Given the description of an element on the screen output the (x, y) to click on. 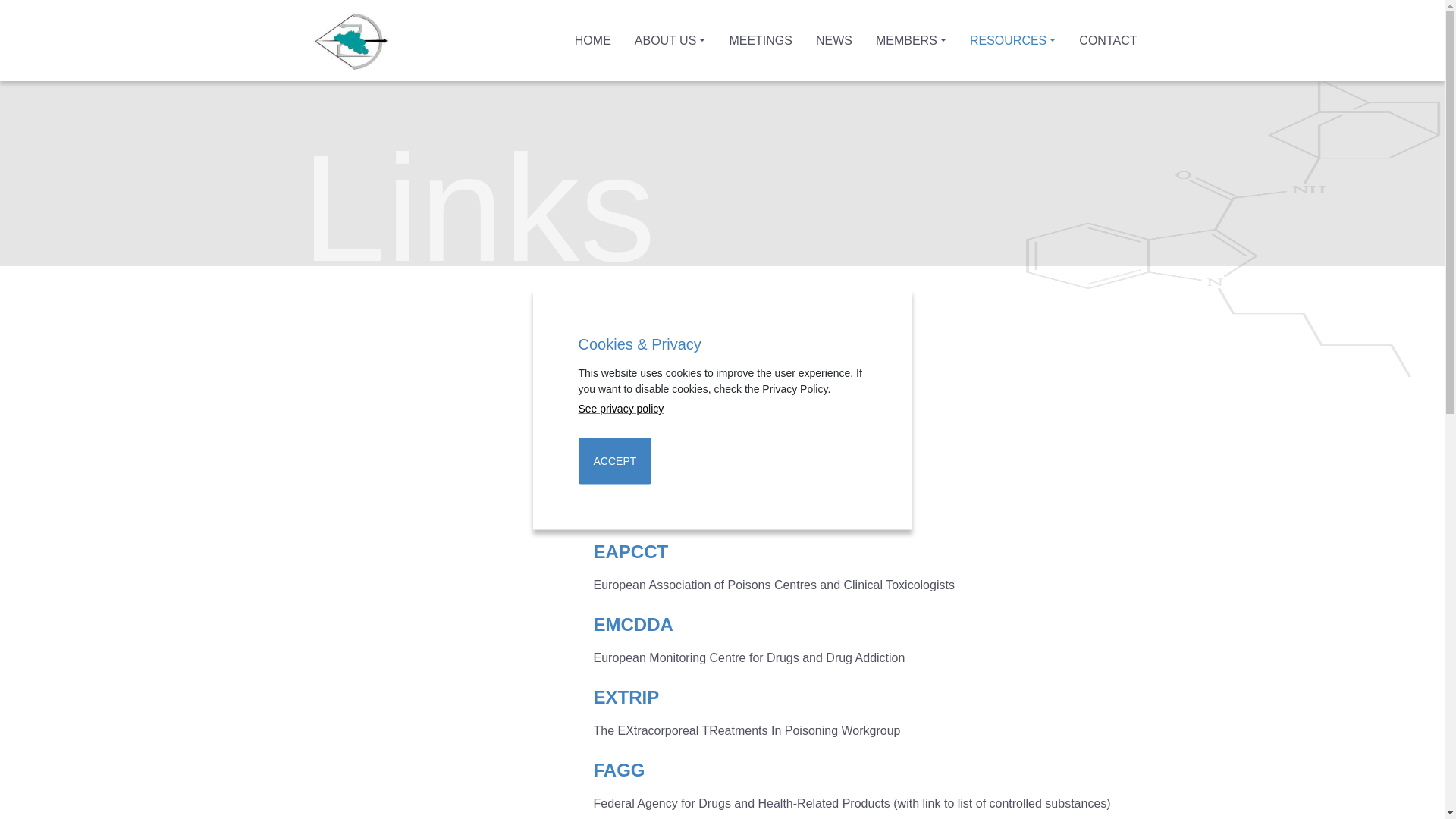
BEWSD Element type: text (626, 478)
See privacy policy Element type: text (721, 409)
FAGG Element type: text (618, 769)
ABOUT US Element type: text (670, 40)
NEWS Element type: text (833, 40)
MEETINGS Element type: text (760, 40)
EAPCCT Element type: text (630, 551)
BeSEDiM Element type: text (633, 405)
BELTOX Element type: text (629, 333)
RESOURCES Element type: text (1012, 40)
HOME Element type: text (592, 40)
CONTACT Element type: text (1107, 40)
ACCEPT Element type: text (614, 461)
EXTRIP Element type: text (625, 697)
EMCDDA Element type: text (632, 624)
MEMBERS Element type: text (910, 40)
